Given the description of an element on the screen output the (x, y) to click on. 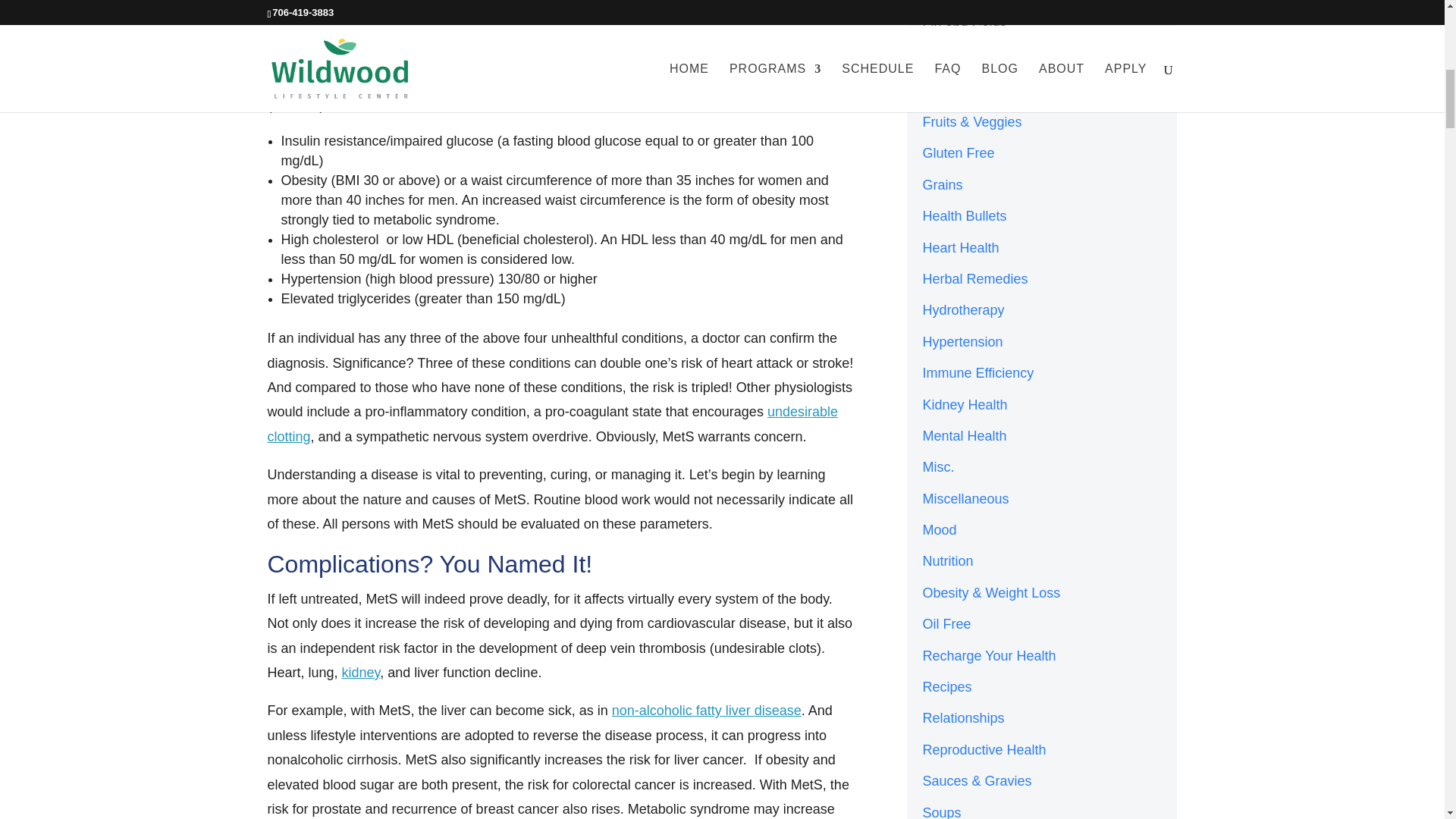
non-alcoholic fatty liver disease (706, 710)
undesirable clotting (551, 423)
kidney (361, 672)
